Given the description of an element on the screen output the (x, y) to click on. 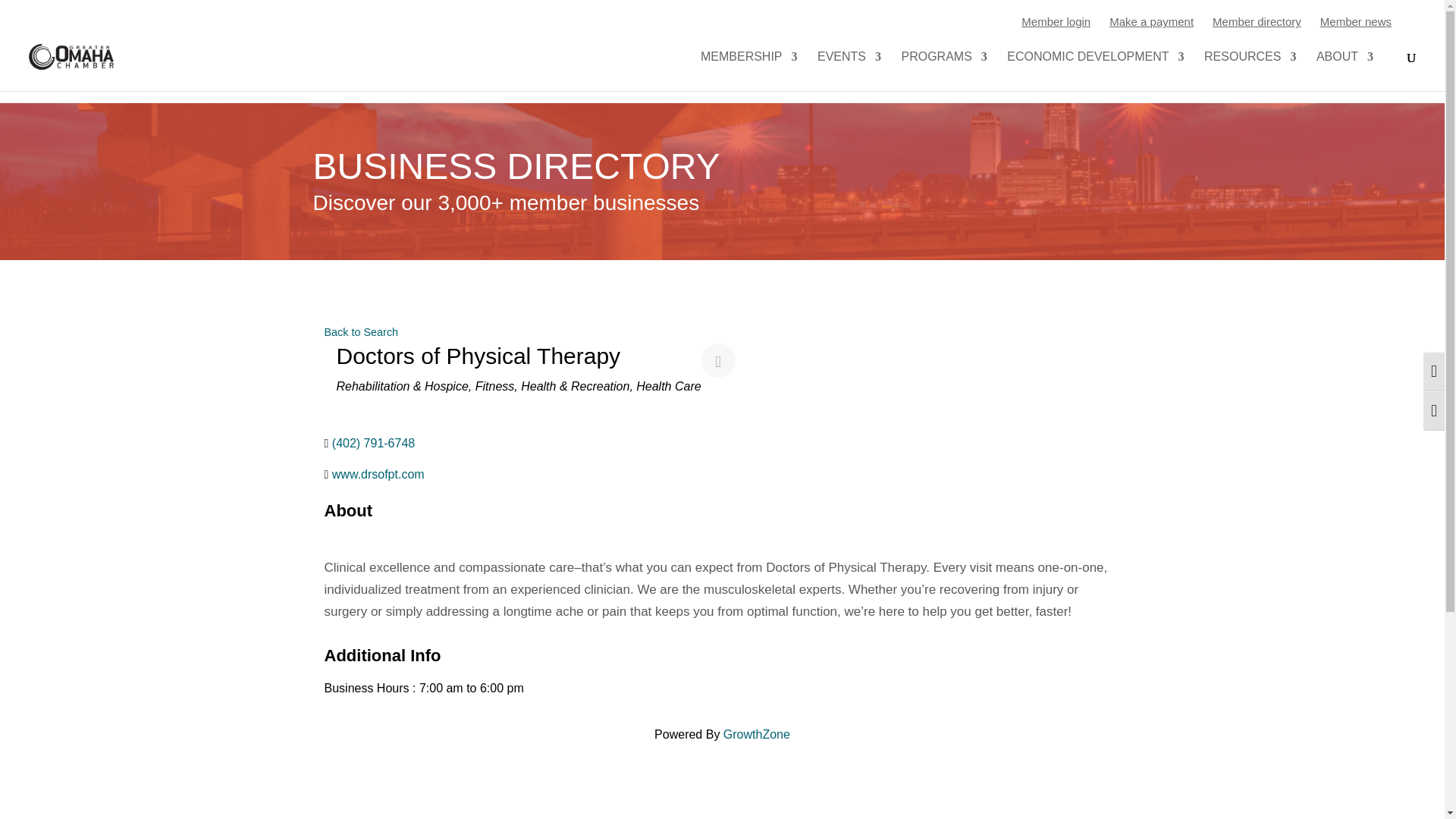
ECONOMIC DEVELOPMENT (1095, 70)
Member directory (1256, 21)
EVENTS (848, 70)
MEMBERSHIP (748, 70)
Make a payment (1151, 21)
Member login (1056, 21)
PROGRAMS (944, 70)
Member news (1355, 21)
